Given the description of an element on the screen output the (x, y) to click on. 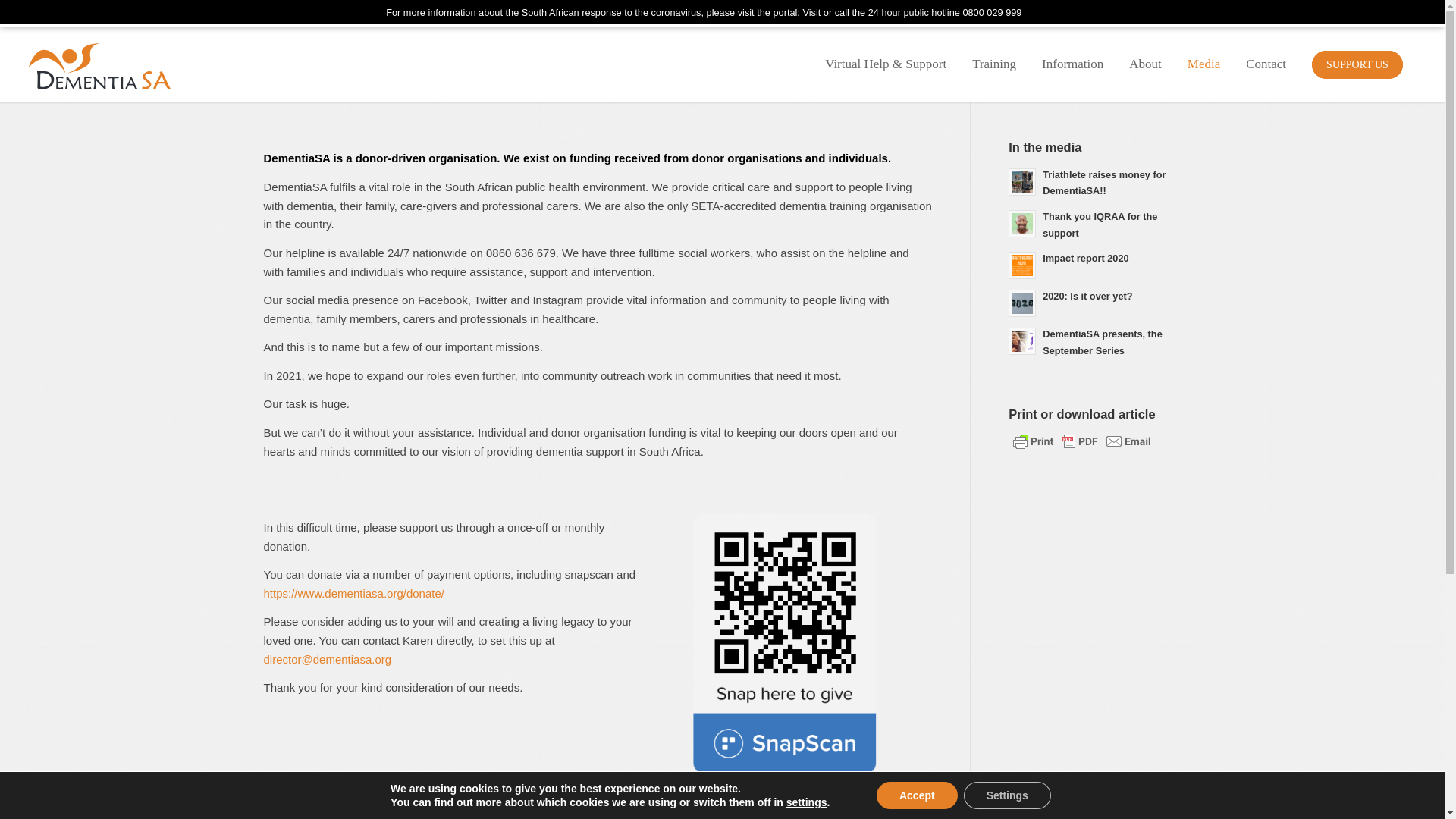
zw0Vgh6f (809, 644)
DementiaSA presents, the September Series (1094, 341)
Thank you IQRAA for the support (1094, 223)
Triathlete raises money for DementiaSA!! (1094, 182)
Impact report 2020 (1094, 263)
Triathlete raises money for DementiaSA!! (1094, 182)
DementiaSA presents, the September Series (1094, 341)
Thank you IQRAA for the support (1094, 223)
2020: Is it over yet? (1094, 301)
SUPPORT US (1356, 63)
Information (1072, 63)
Impact report 2020 (1094, 263)
Training (994, 63)
2020: Is it over yet? (1094, 301)
